Given the description of an element on the screen output the (x, y) to click on. 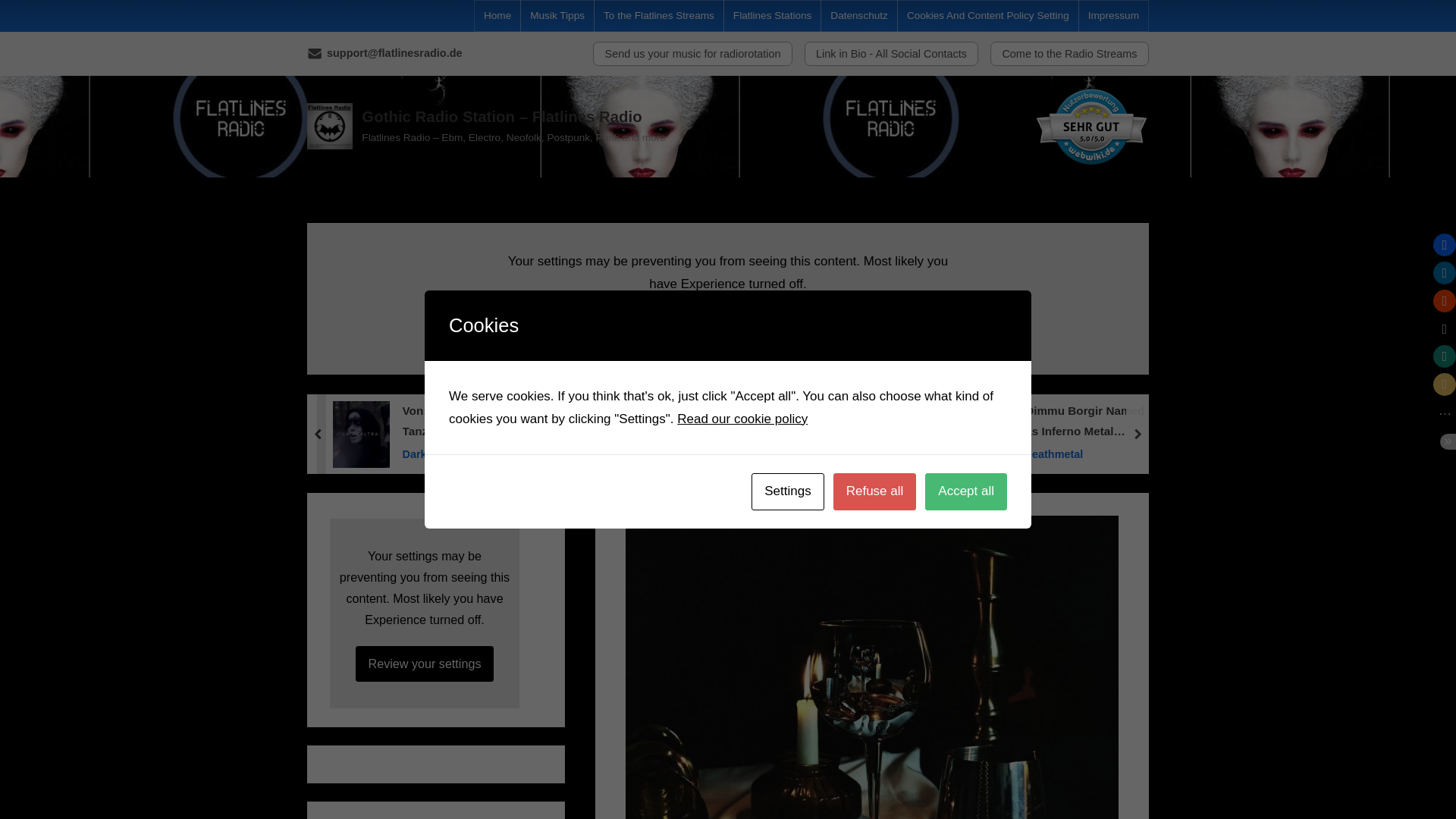
Link in Bio - All Social Contacts (891, 53)
gothicpop (864, 453)
Come to the Radio Streams (1069, 53)
Musik Tipps (557, 15)
Flatlines Stations (772, 15)
gothicpop (650, 453)
deathmetal (1088, 453)
To the Flatlines Streams (659, 15)
Von: Tanzfledermaus (457, 421)
Send us your music for radiorotation (692, 53)
Dark Wave (457, 453)
Datenschutz (858, 15)
Cookies And Content Policy Setting (987, 15)
Home (497, 15)
Impressum (1112, 15)
